Given the description of an element on the screen output the (x, y) to click on. 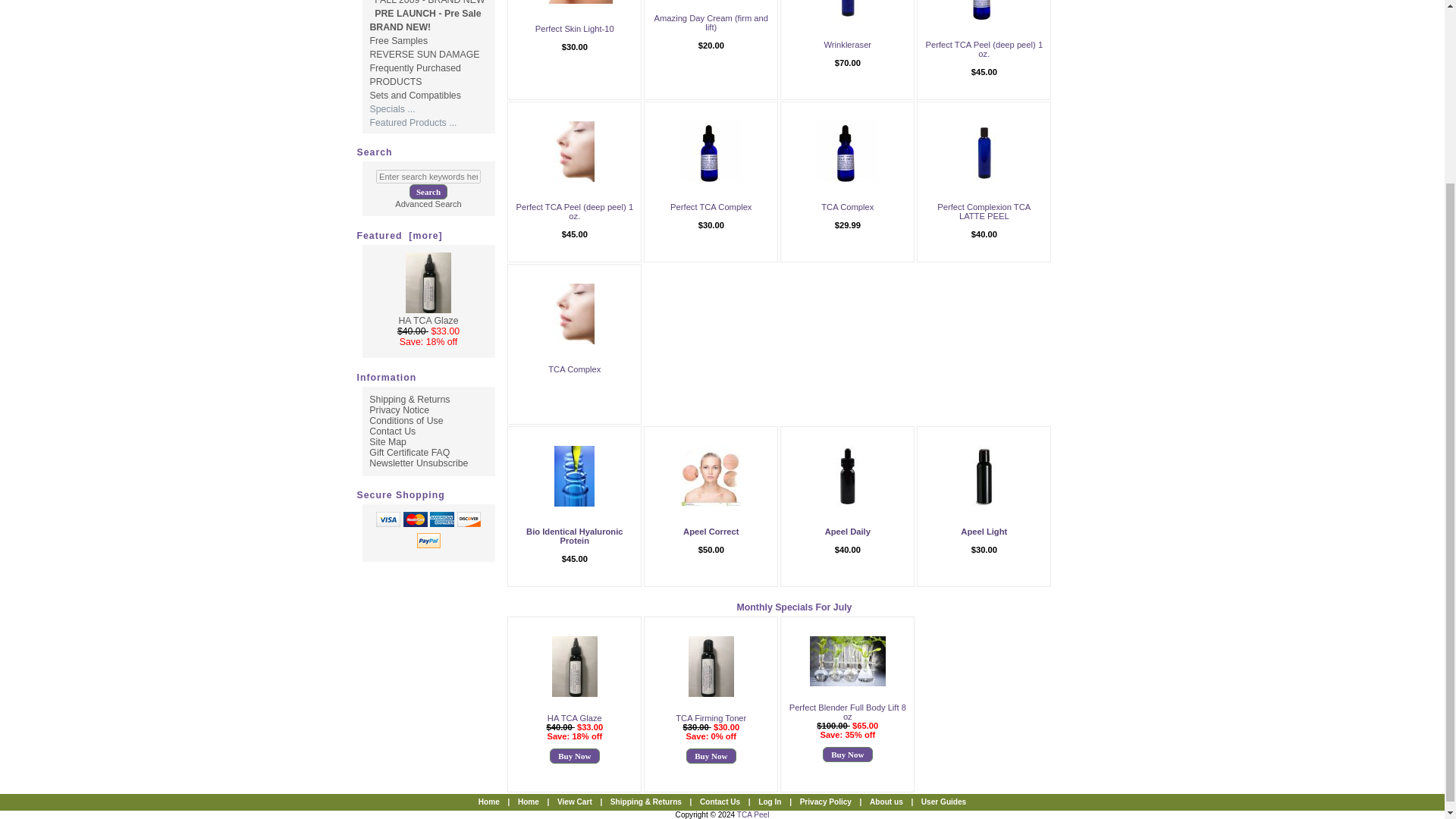
Search (427, 191)
More Info (711, 35)
 Perfect TCA Complex  (711, 151)
More Info (846, 53)
 TCA Complex  (846, 151)
Search (427, 191)
 Wrinkleraser  (847, 9)
 Perfect Blender Full Body Lift 8 oz  (847, 661)
 Perfect Skin Light-10  (574, 2)
 Apeel Correct  (711, 475)
Wrinkleraser (847, 44)
 Apeel Daily  (846, 475)
Perfect Skin Light-10 (574, 28)
 Apeel Light  (983, 475)
More Info (574, 37)
